Given the description of an element on the screen output the (x, y) to click on. 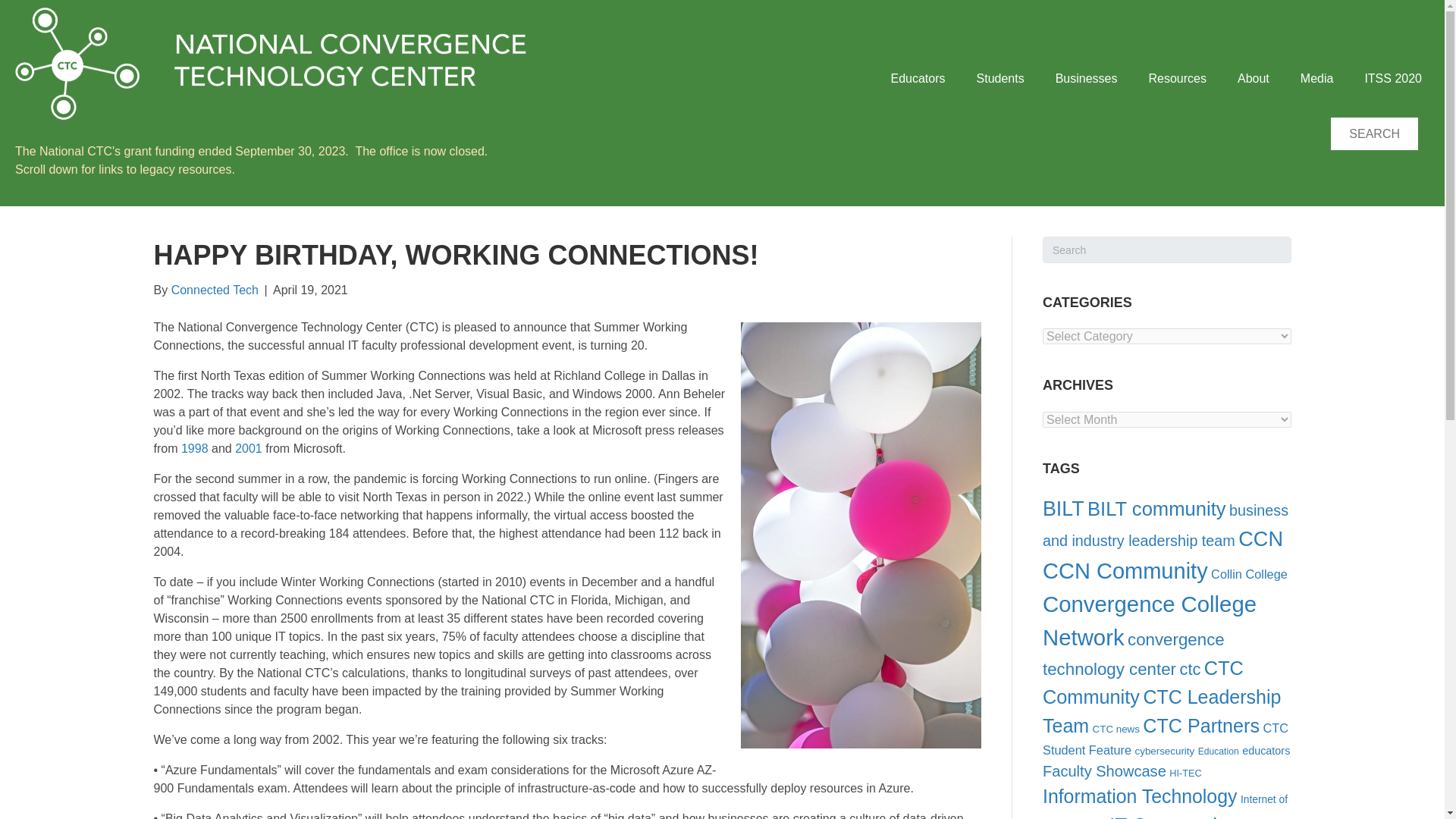
Resources (1177, 78)
Type and press Enter to search. (1166, 249)
About (1253, 78)
1998 (194, 448)
Educators (917, 78)
Media (1317, 78)
ct-center-png-logo-white-CTC-edit-01 (270, 63)
ITSS 2020 (1393, 78)
SEARCH (1374, 133)
Students (999, 78)
Connected Tech (215, 289)
2001 (248, 448)
Businesses (1086, 78)
